Given the description of an element on the screen output the (x, y) to click on. 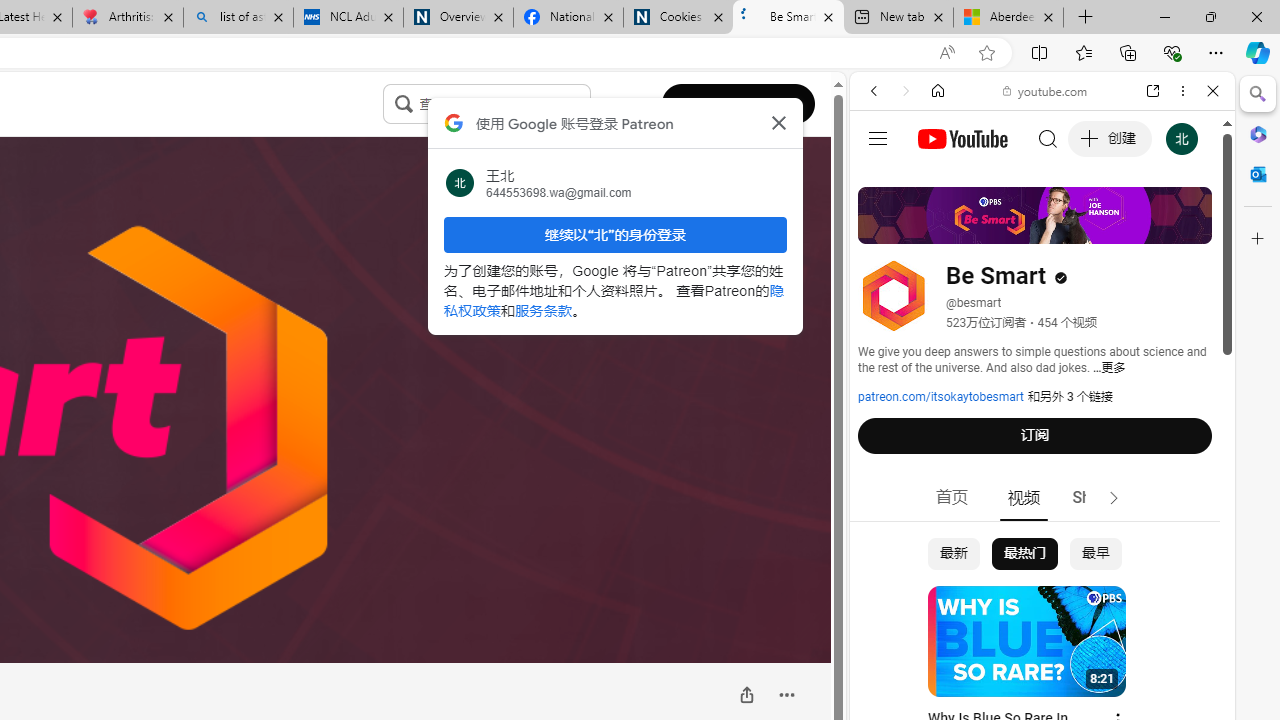
youtube.com (1046, 90)
Shorts (1096, 497)
patreon.com/itsokaytobesmart (941, 397)
Search videos from youtube.com (1005, 657)
